Given the description of an element on the screen output the (x, y) to click on. 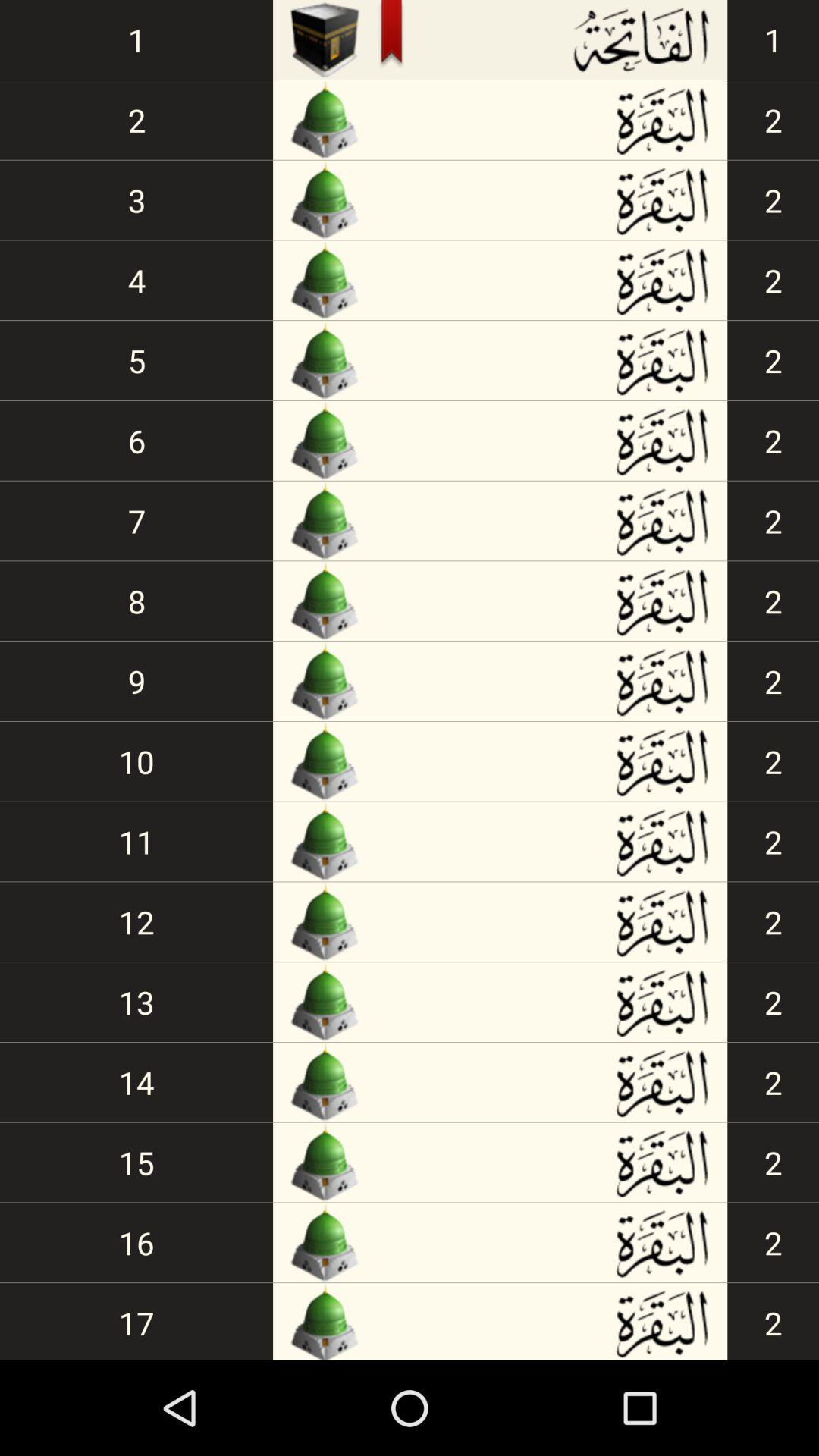
choose the app below 9 icon (136, 761)
